Given the description of an element on the screen output the (x, y) to click on. 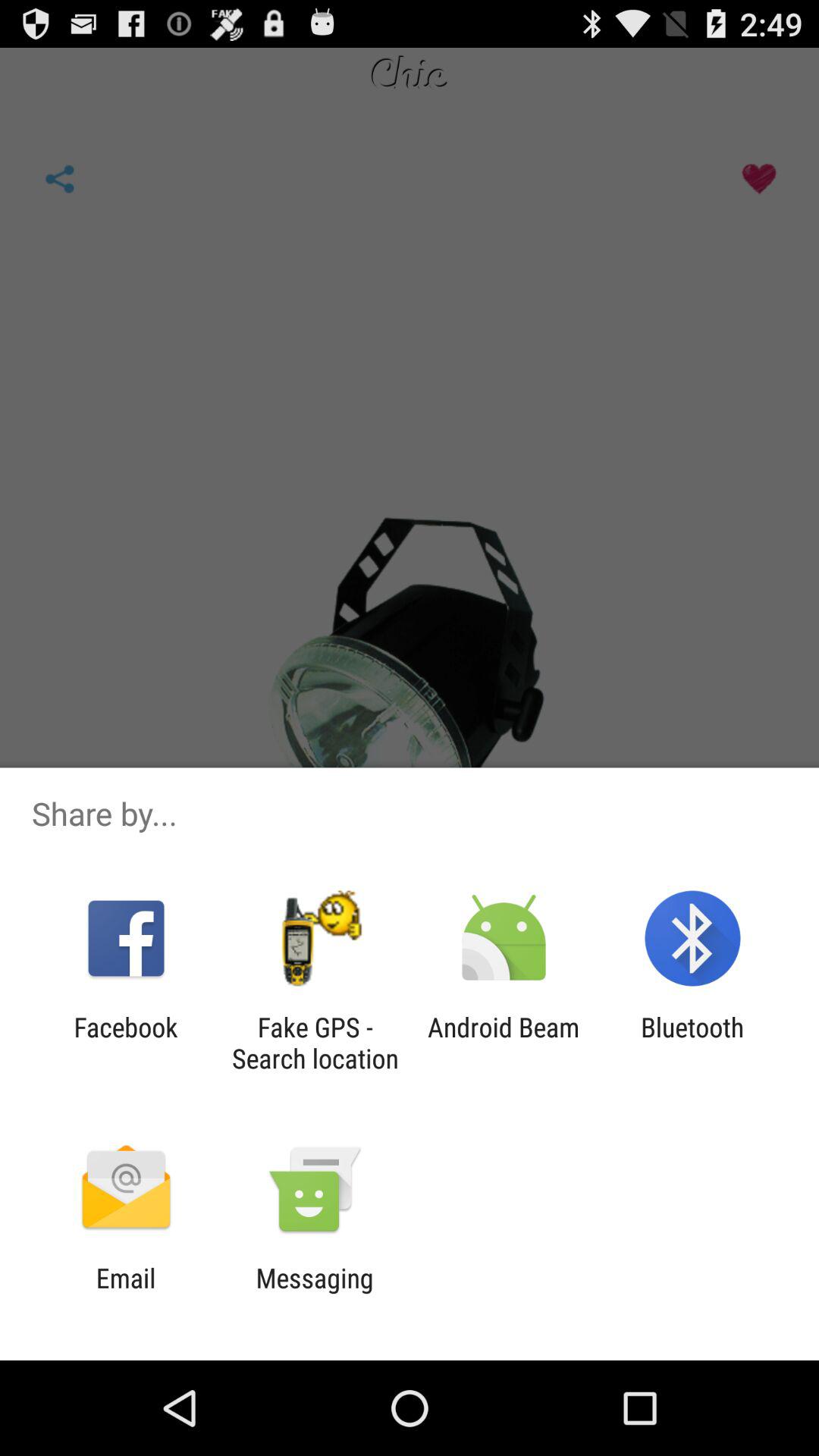
choose item to the right of email app (314, 1293)
